Given the description of an element on the screen output the (x, y) to click on. 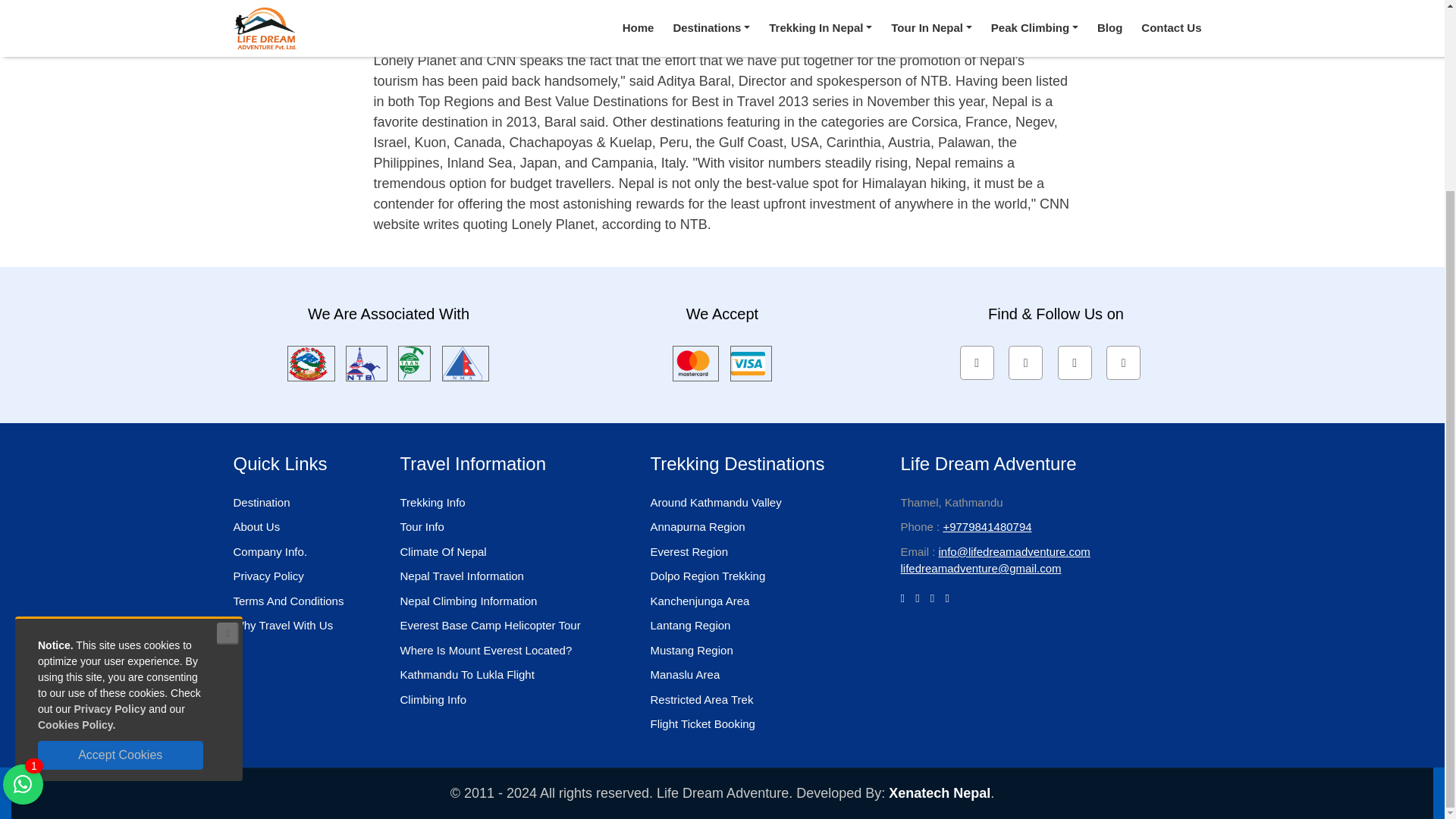
Tourism Ministry of Nepal (310, 362)
Nepal Tourism Board (365, 362)
Visa card (750, 362)
Master Card (694, 362)
TAAN (413, 362)
Nepal Mountaineering Association (465, 362)
